Given the description of an element on the screen output the (x, y) to click on. 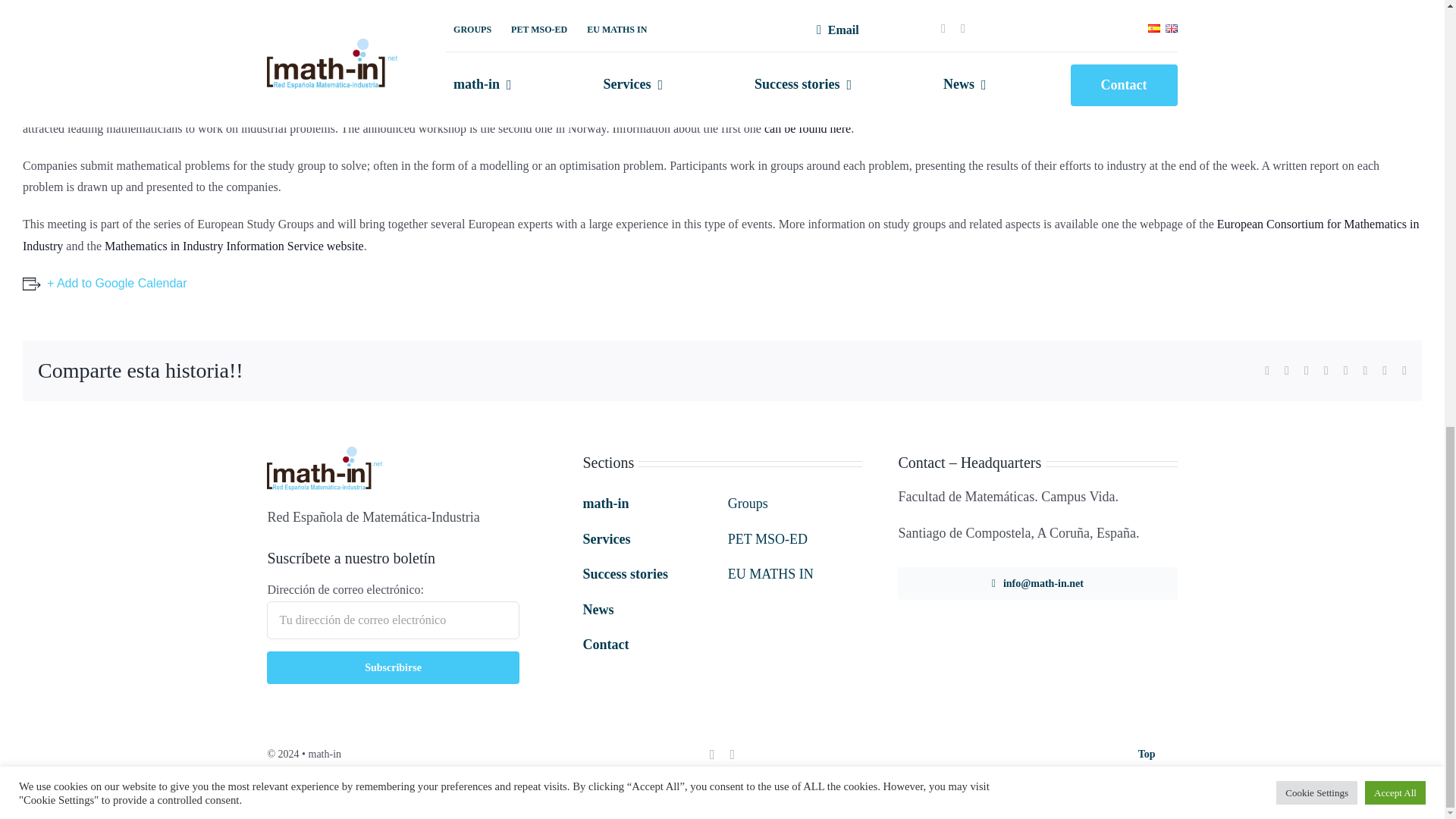
Subscribirse (392, 667)
Add to Google Calendar (105, 283)
